Given the description of an element on the screen output the (x, y) to click on. 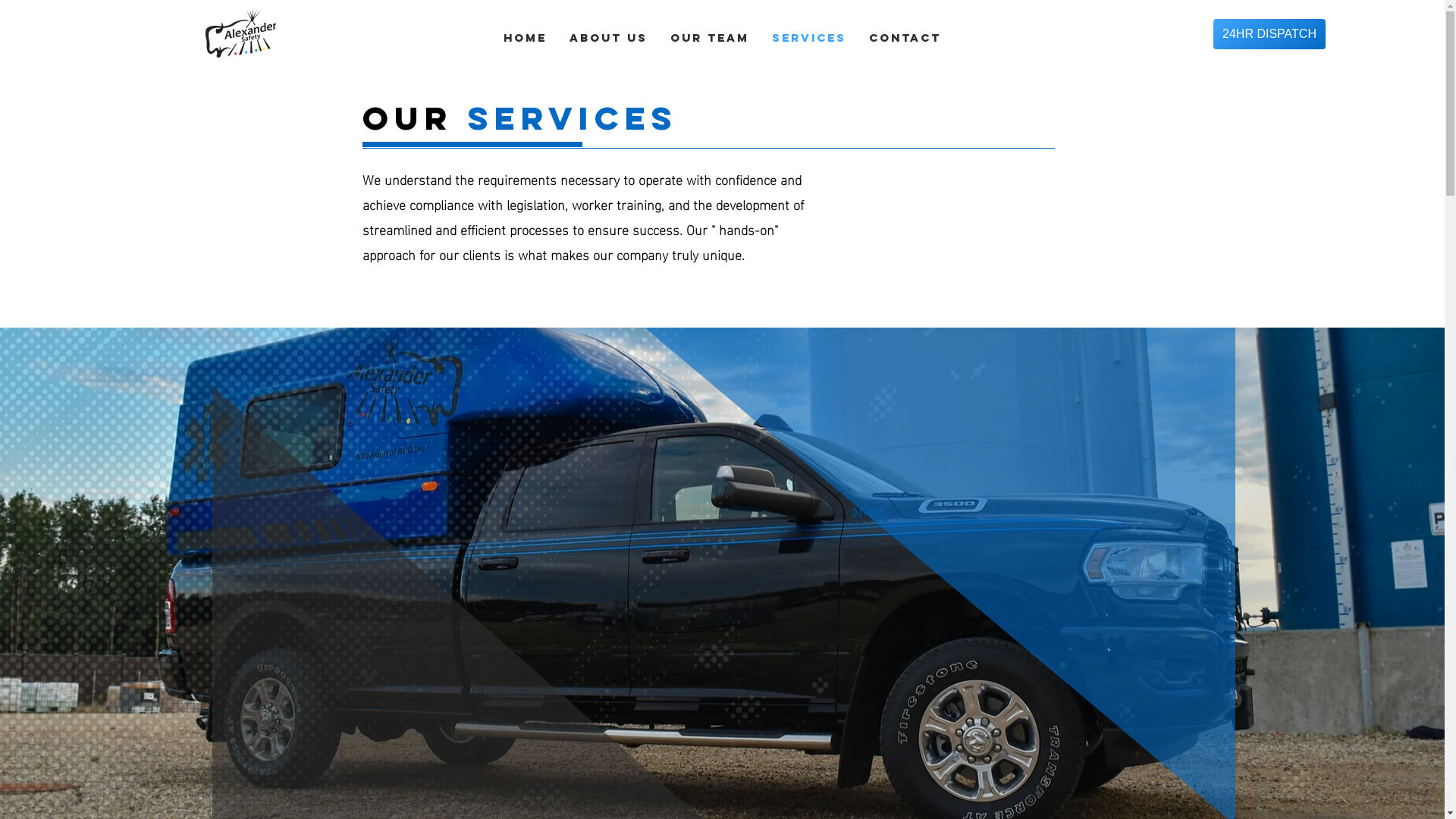
CONTACT Element type: text (904, 37)
HOME Element type: text (525, 37)
24HR DISPATCH Element type: text (1269, 33)
ABOUT US Element type: text (608, 37)
SERVICES Element type: text (808, 37)
OUR TEAM Element type: text (709, 37)
